Given the description of an element on the screen output the (x, y) to click on. 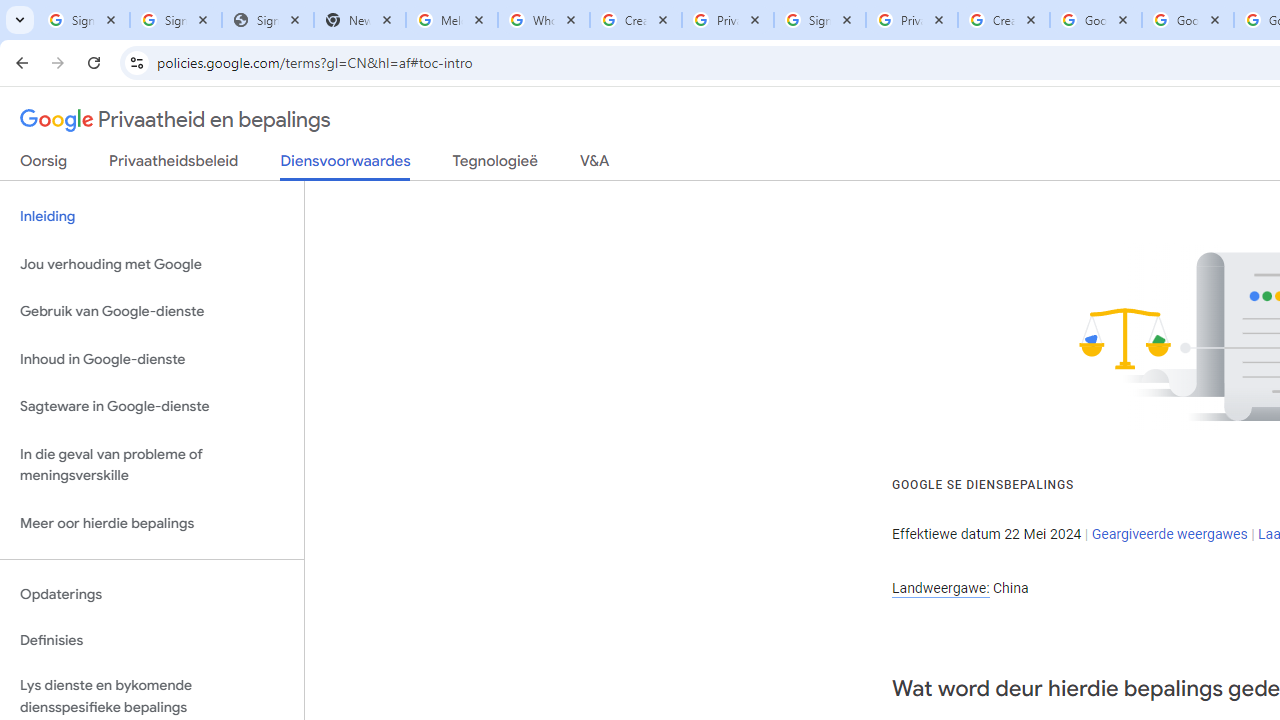
Definisies (152, 640)
Geargiveerde weergawes (1169, 533)
Create your Google Account (636, 20)
Oorsig (43, 165)
Opdaterings (152, 594)
Sign In - USA TODAY (267, 20)
Landweergawe: (940, 588)
Sign in - Google Accounts (175, 20)
